Given the description of an element on the screen output the (x, y) to click on. 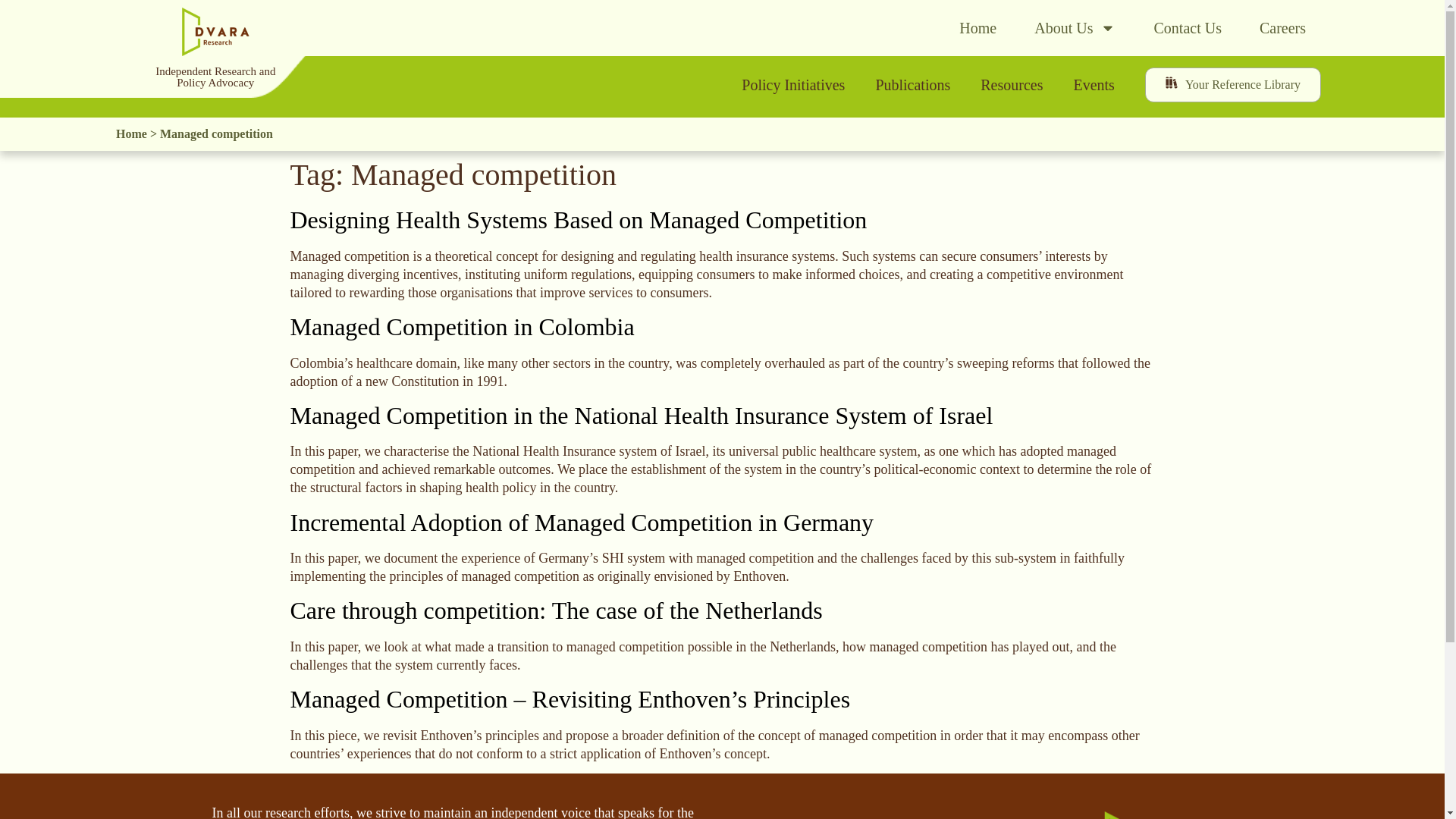
Independent Research and Policy Advocacy (215, 76)
Publications (912, 84)
About Us (1075, 27)
Home (977, 27)
Resources (1011, 84)
Contact Us (1187, 27)
Careers (1282, 27)
Events (1093, 84)
Policy Initiatives (793, 84)
Your Reference Library (1232, 84)
